Given the description of an element on the screen output the (x, y) to click on. 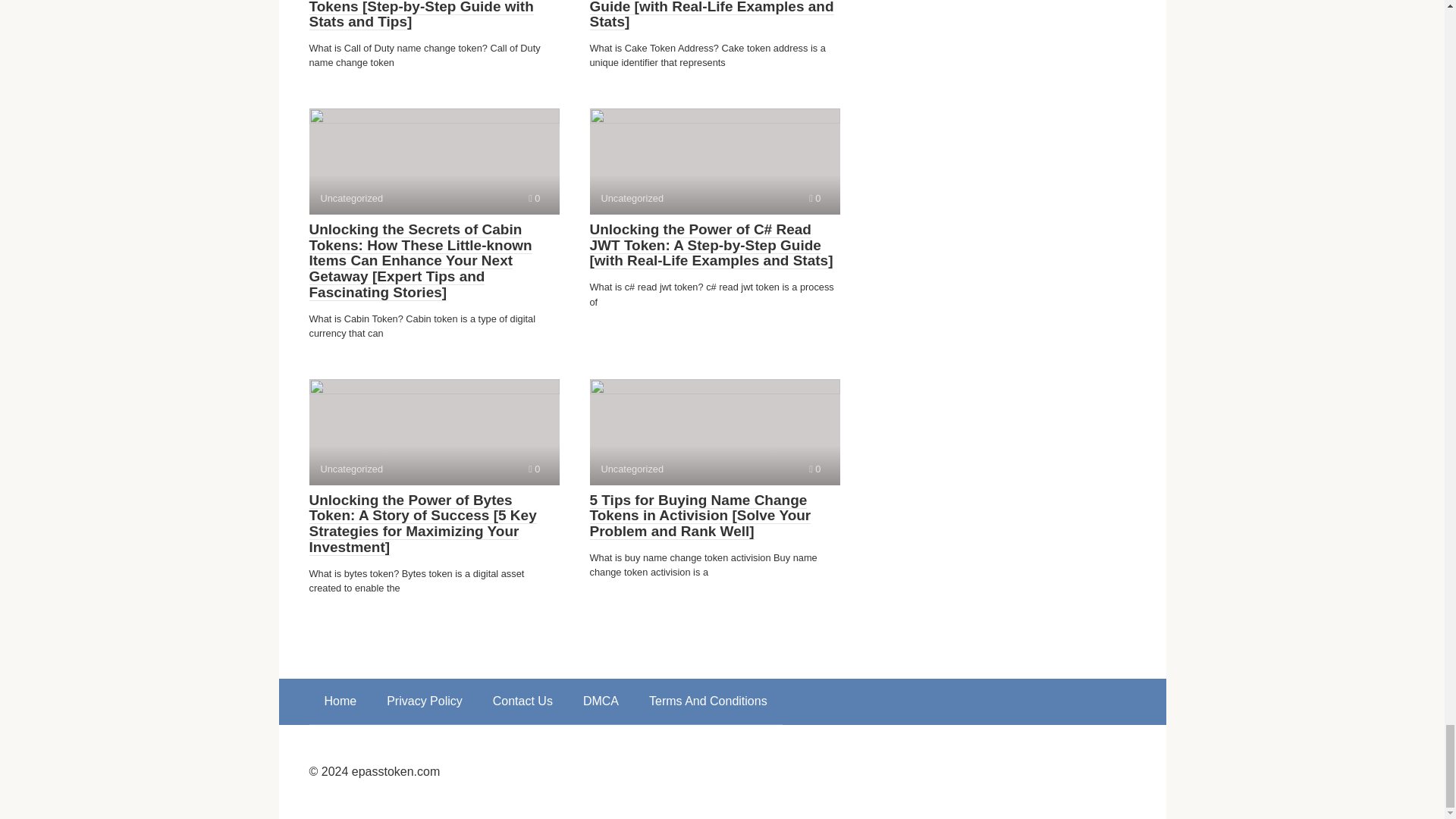
Comments (815, 469)
Comments (534, 469)
Comments (534, 197)
Comments (815, 197)
